Given the description of an element on the screen output the (x, y) to click on. 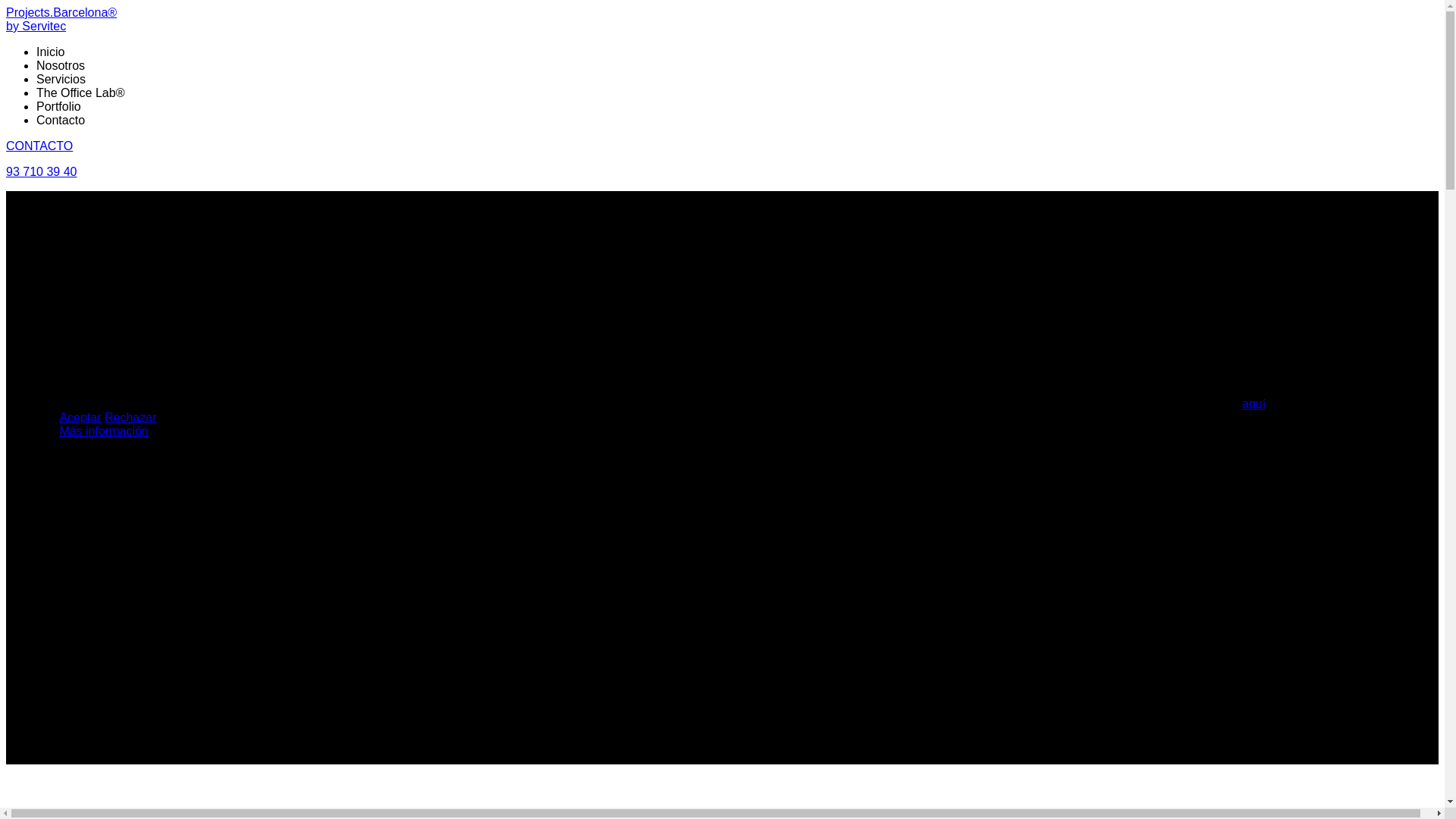
Portfolio Element type: text (58, 106)
Contacto Element type: text (60, 119)
Aceptar Element type: text (79, 417)
Inicio Element type: text (50, 51)
93 710 39 40 Element type: text (41, 171)
CONTACTO Element type: text (39, 145)
Nosotros Element type: text (60, 65)
Rechazar Element type: text (130, 417)
Servicios Element type: text (60, 78)
